Given the description of an element on the screen output the (x, y) to click on. 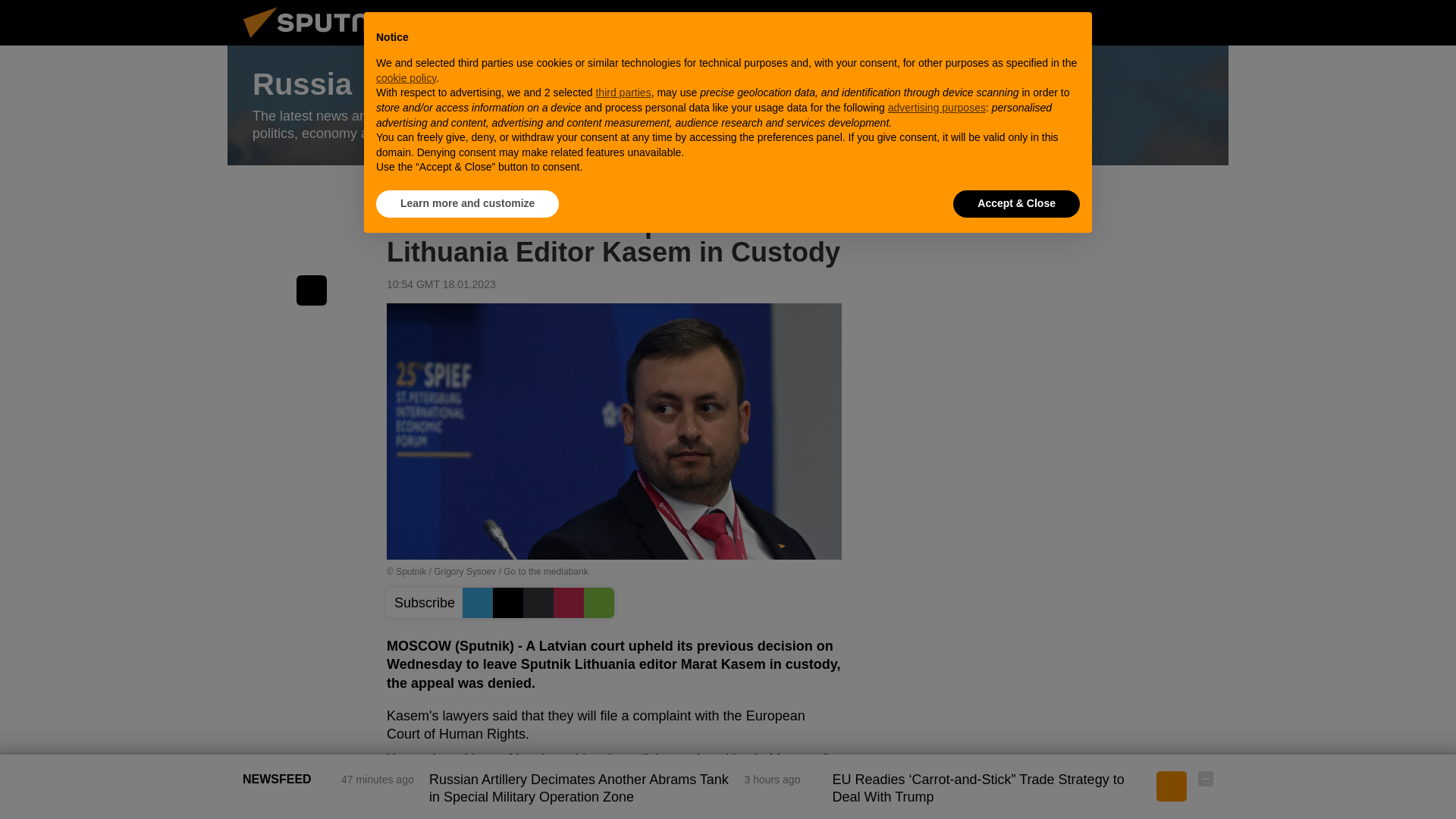
Chats (1206, 22)
Sputnik International (325, 41)
Authorization (1129, 22)
Russia (727, 105)
